Given the description of an element on the screen output the (x, y) to click on. 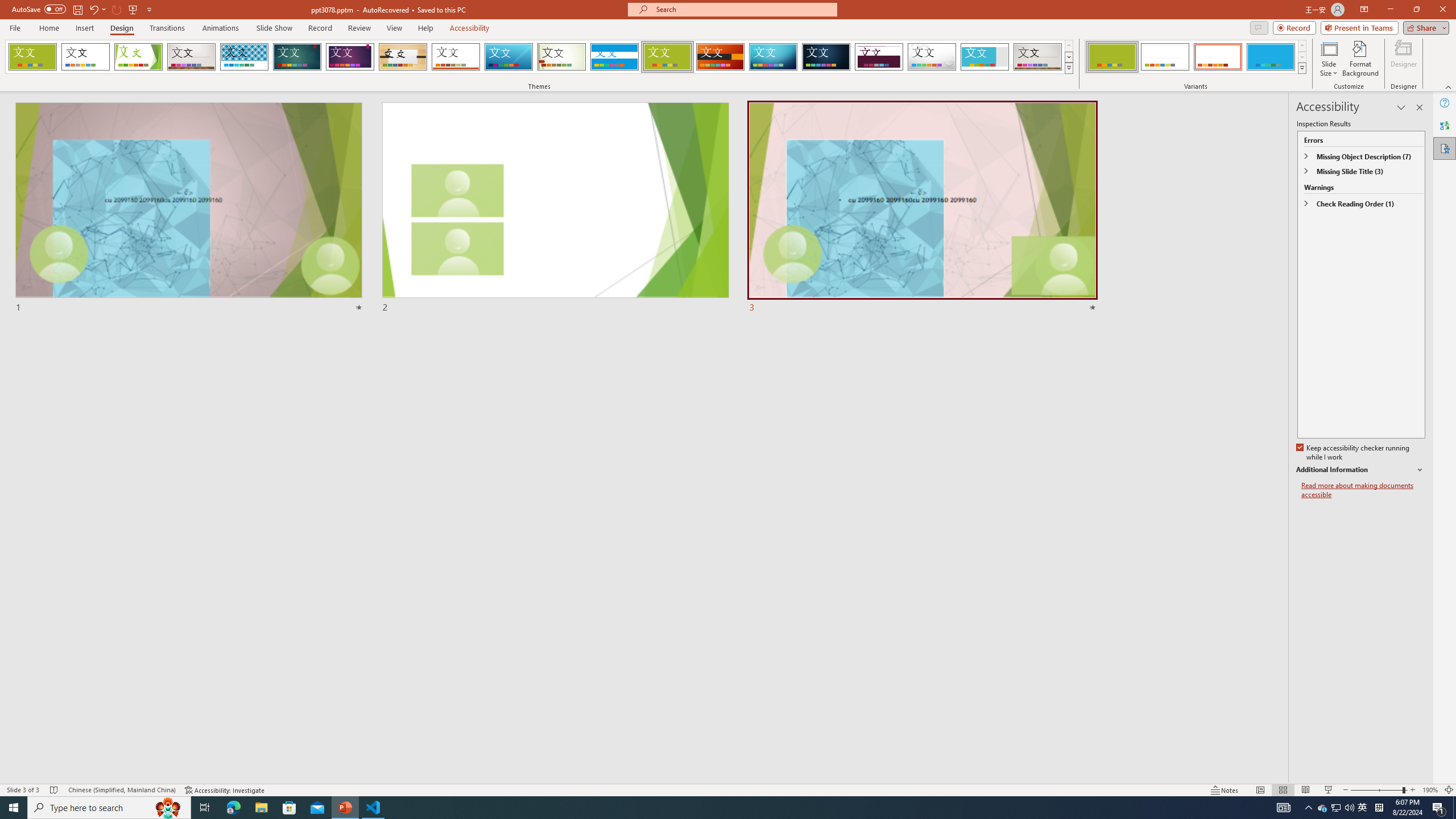
AutomationID: ThemeVariantsGallery (1195, 56)
Themes (1068, 67)
Variants (1301, 67)
Damask (826, 56)
Wisp (561, 56)
